Given the description of an element on the screen output the (x, y) to click on. 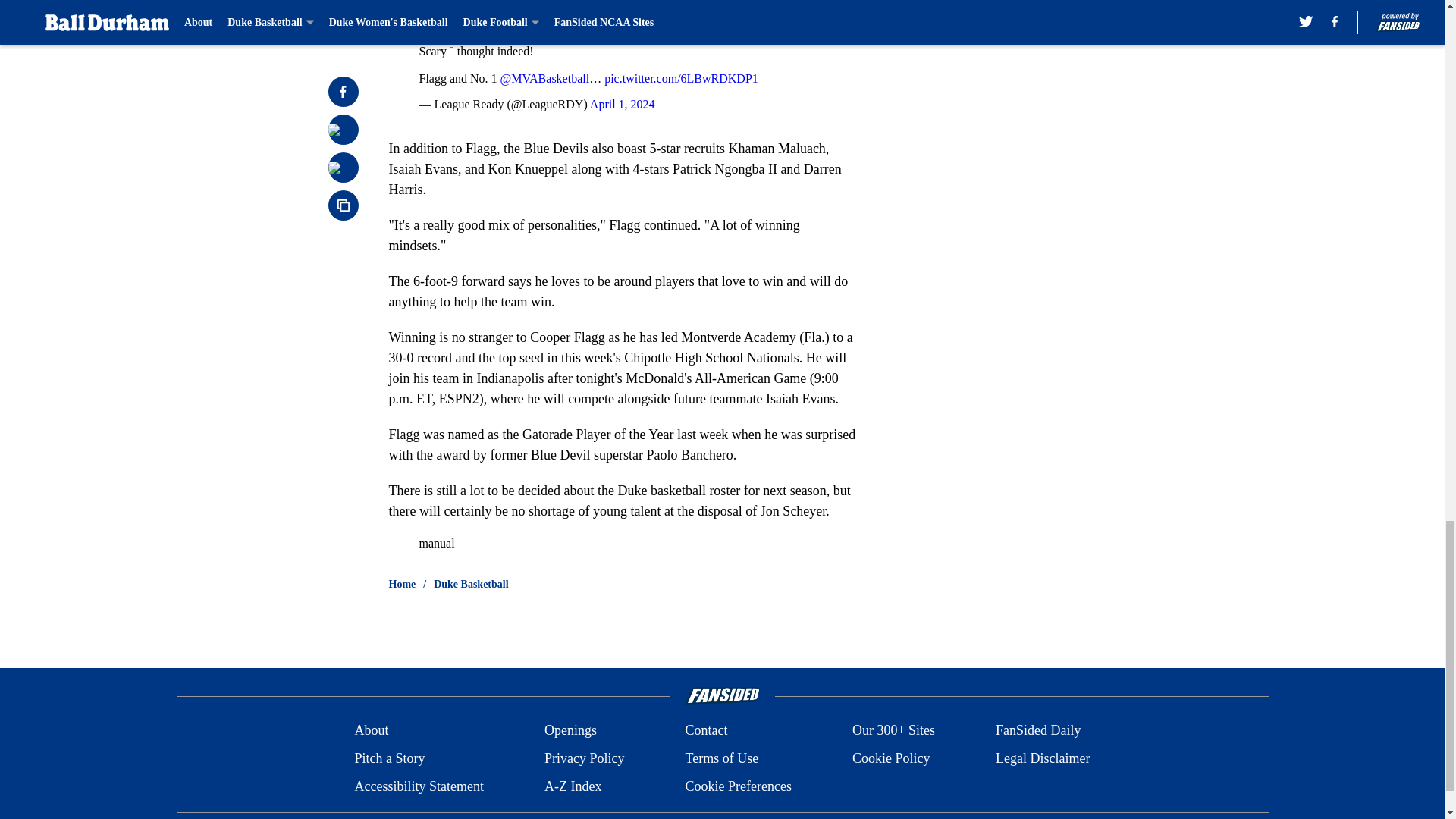
Home (401, 584)
About (370, 730)
Pitch a Story (389, 758)
Openings (570, 730)
Contact (705, 730)
FanSided Daily (1038, 730)
Privacy Policy (584, 758)
April 1, 2024 (622, 103)
Duke Basketball (470, 584)
